Given the description of an element on the screen output the (x, y) to click on. 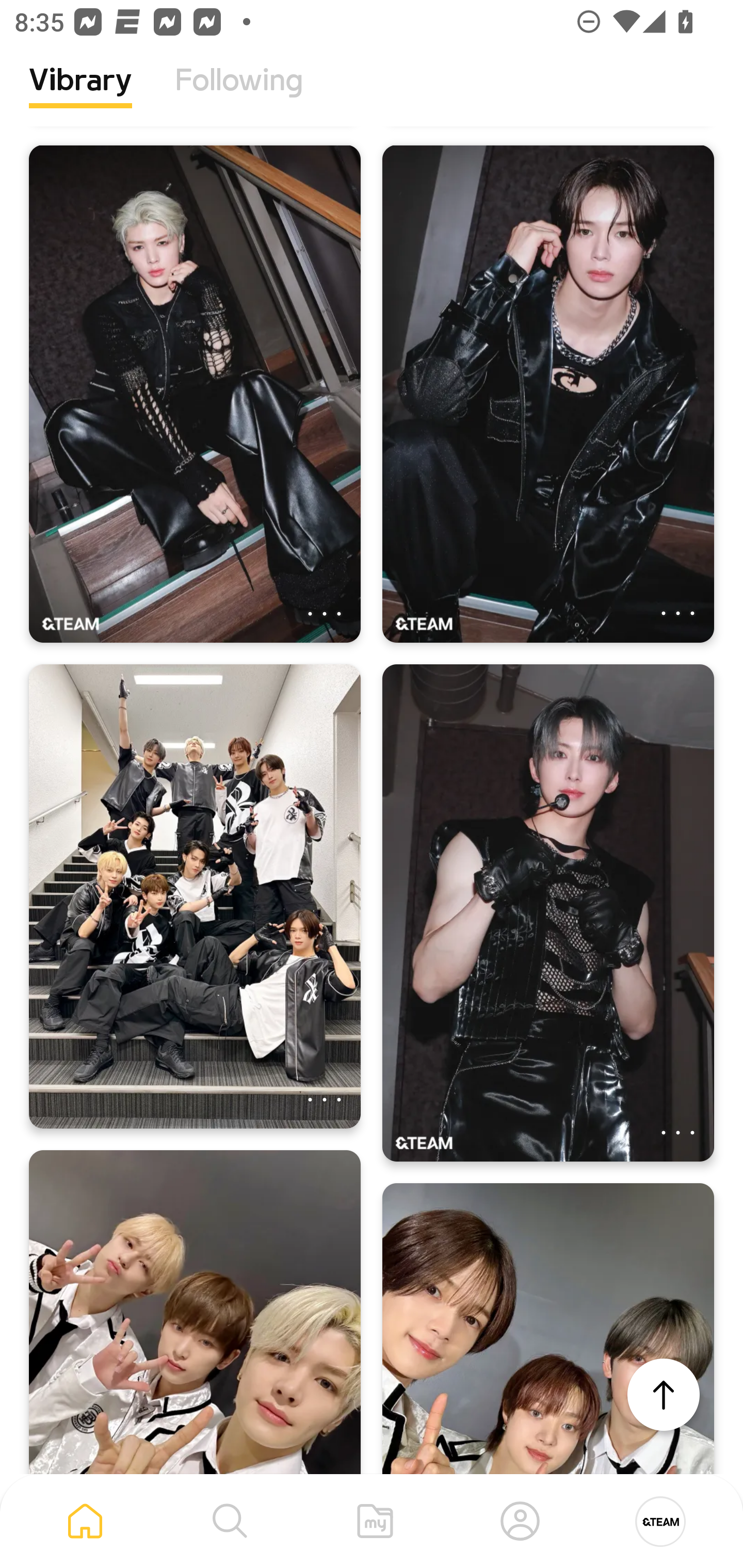
Vibrary (80, 95)
Following (239, 95)
